Given the description of an element on the screen output the (x, y) to click on. 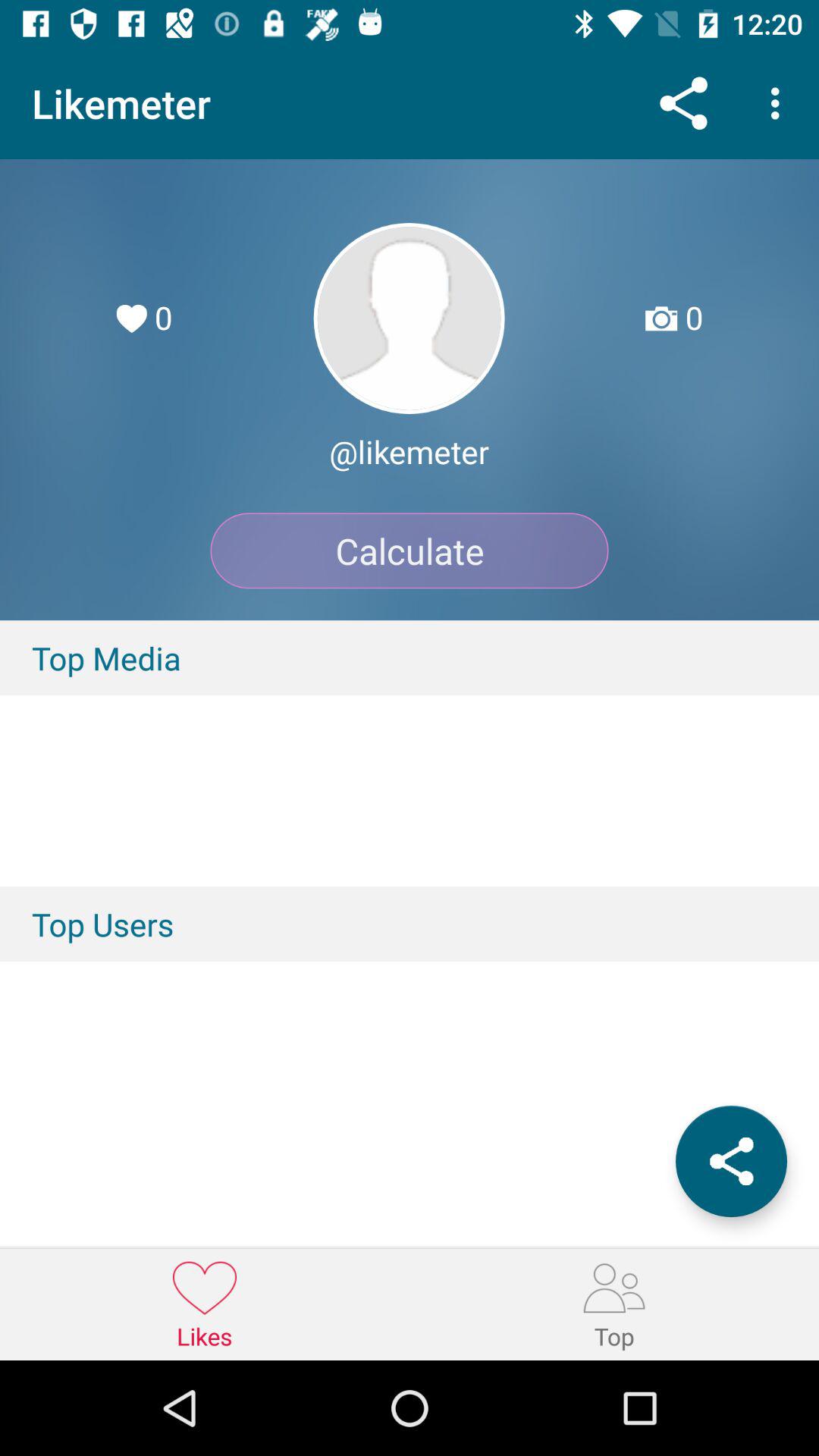
turn on item above top media (409, 550)
